Given the description of an element on the screen output the (x, y) to click on. 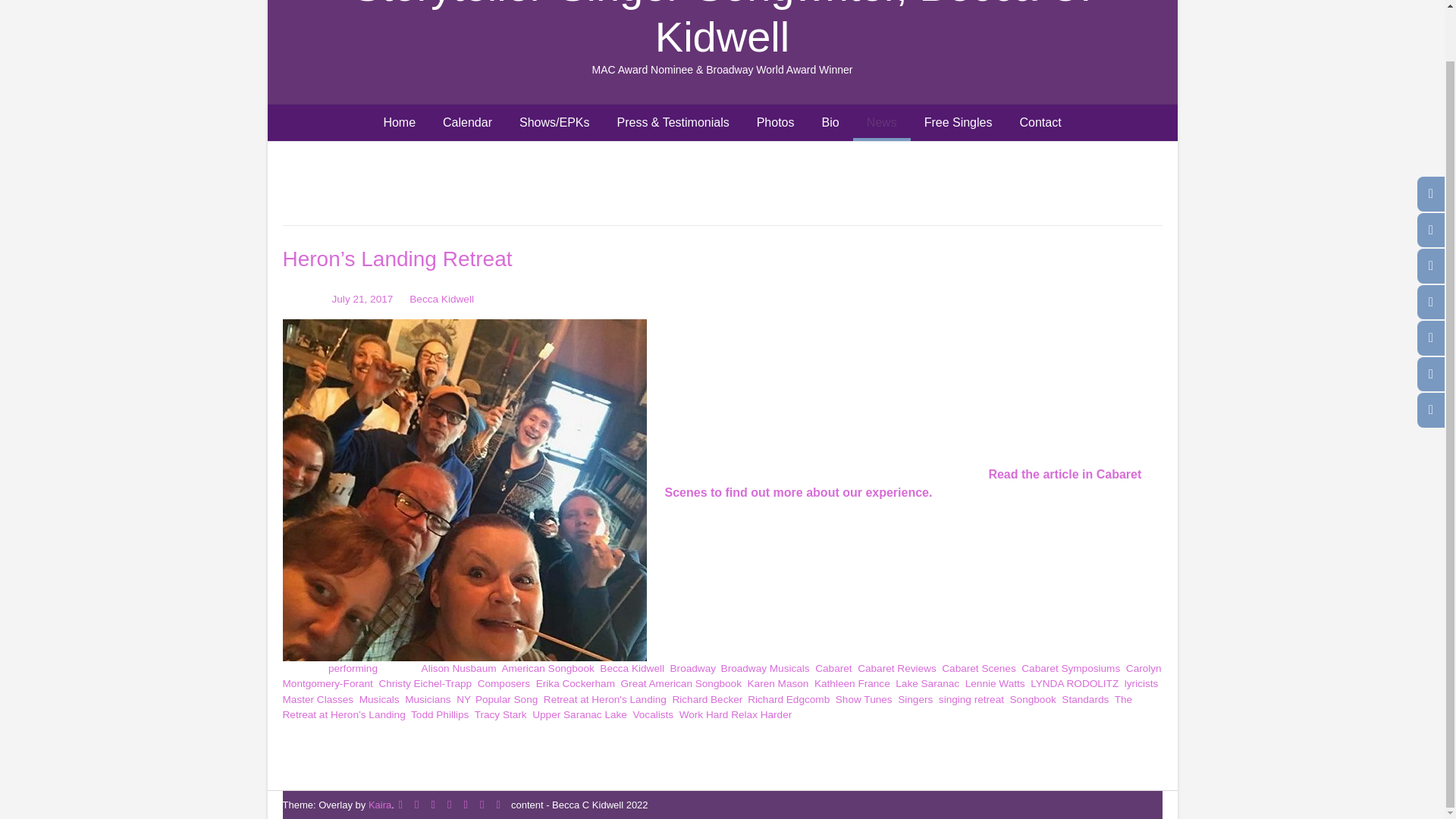
Cabaret Reviews (896, 668)
Calendar (467, 122)
Contact (1040, 122)
Bio (830, 122)
Home (399, 122)
Becca Kidwell (631, 668)
Cabaret Symposiums (1070, 668)
Becca Kidwell (441, 298)
Christy Eichel-Trapp (424, 683)
Cabaret Scenes (978, 668)
Alison Nusbaum (459, 668)
Storyteller-Singer-Songwriter, Becca C. Kidwell (721, 30)
Composers (504, 683)
July 21, 2017 (362, 298)
